Given the description of an element on the screen output the (x, y) to click on. 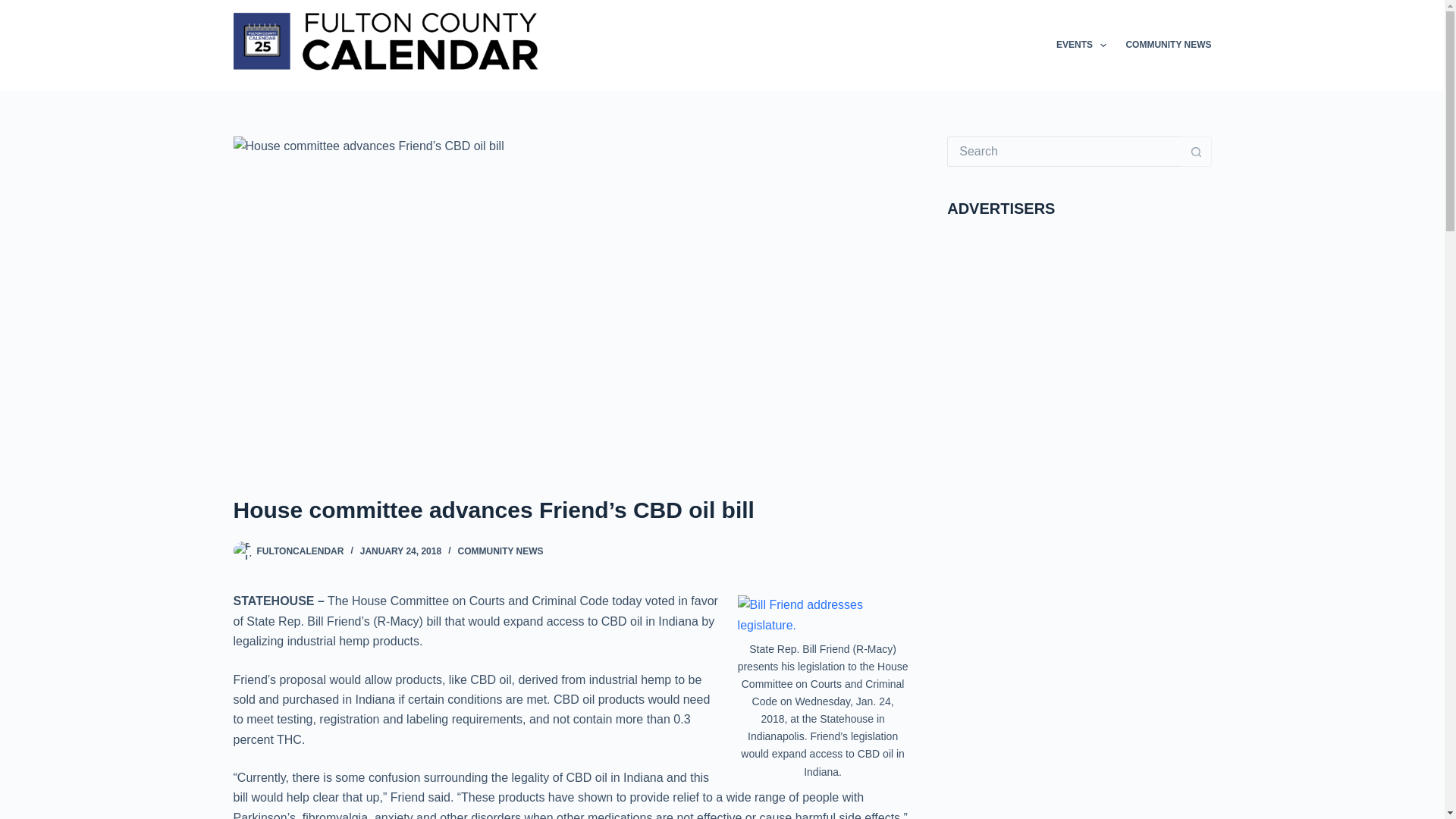
Posts by fultoncalendar (299, 551)
FULTONCALENDAR (299, 551)
Skip to content (15, 7)
Search for... (1063, 151)
COMMUNITY NEWS (1163, 45)
COMMUNITY NEWS (500, 551)
